Given the description of an element on the screen output the (x, y) to click on. 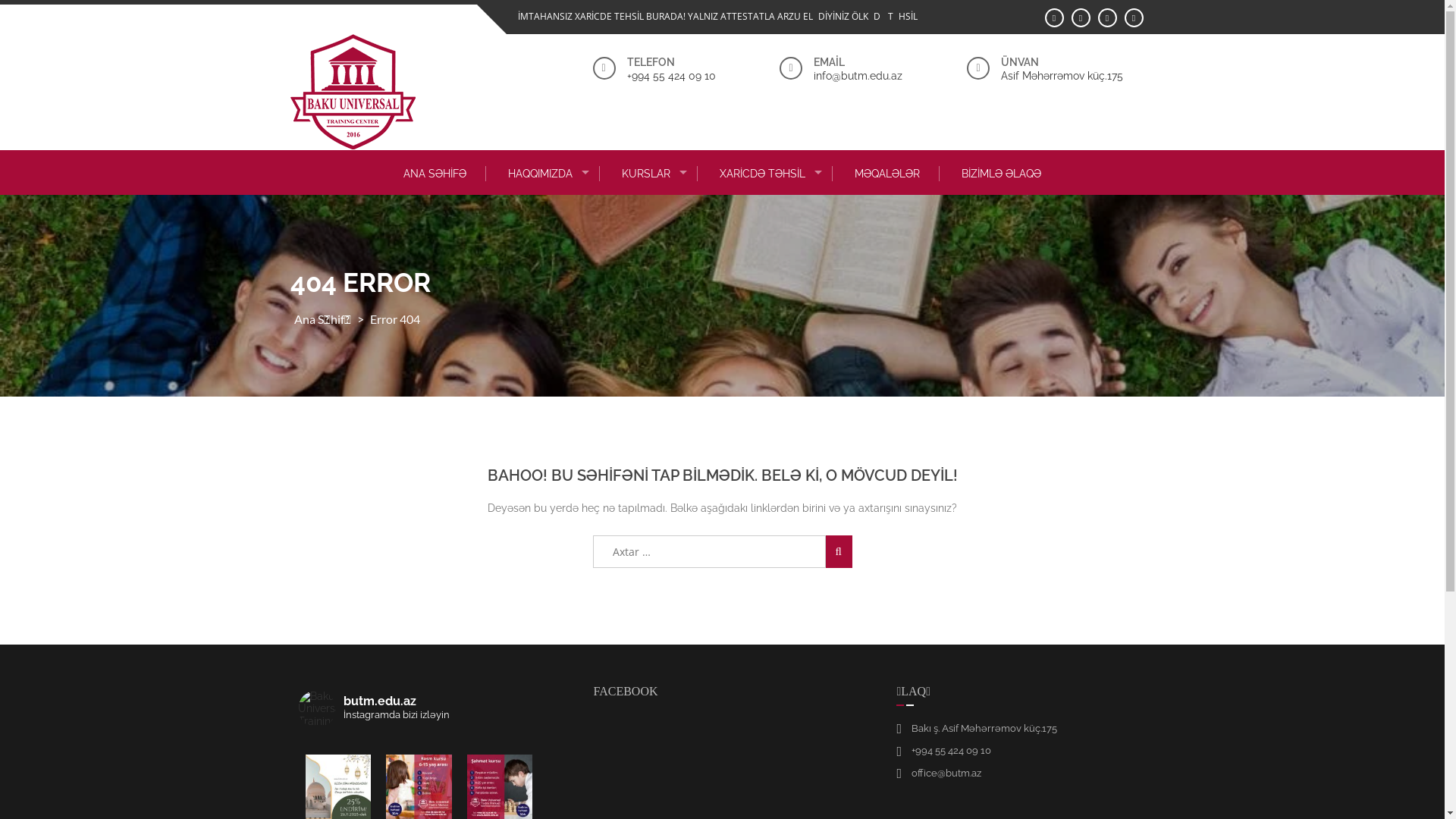
HAQQIMIZDA Element type: text (544, 173)
KURSLAR Element type: text (649, 173)
Axtar Element type: text (838, 551)
